Given the description of an element on the screen output the (x, y) to click on. 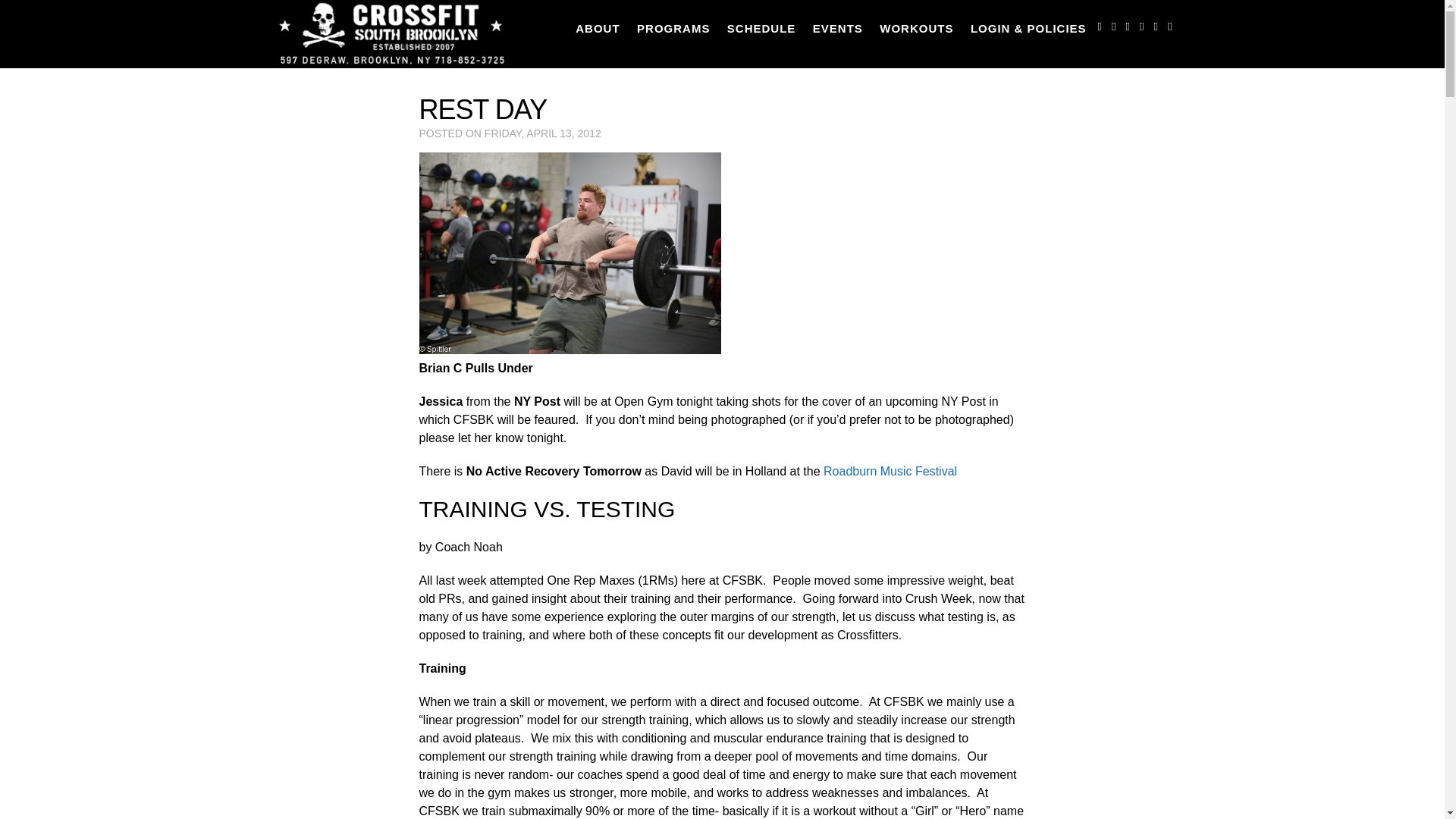
WORKOUTS (915, 28)
SCHEDULE (761, 28)
CROSSFIT SOUTH BROOKLYN (389, 33)
EVENTS (837, 28)
PROGRAMS (673, 28)
Roadburn Music Festival (890, 471)
ABOUT (597, 28)
